Given the description of an element on the screen output the (x, y) to click on. 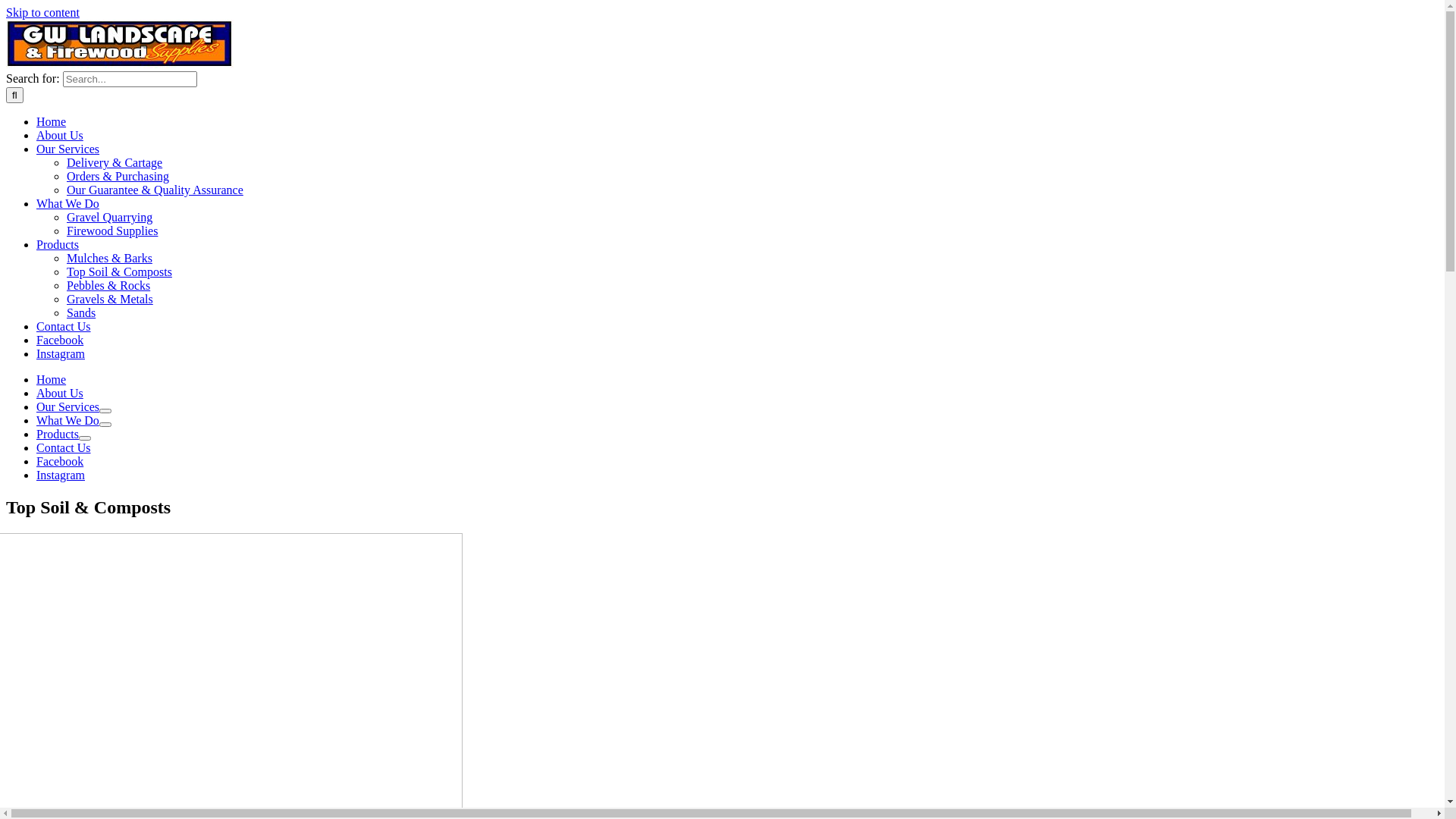
Gravels & Metals Element type: text (109, 298)
Mulches & Barks Element type: text (109, 257)
Firewood Supplies Element type: text (111, 230)
Contact Us Element type: text (63, 447)
Instagram Element type: text (60, 353)
About Us Element type: text (59, 134)
About Us Element type: text (59, 392)
Our Guarantee & Quality Assurance Element type: text (154, 189)
Our Services Element type: text (67, 406)
Pebbles & Rocks Element type: text (108, 285)
Facebook Element type: text (59, 339)
Products Element type: text (57, 433)
Sands Element type: text (80, 312)
Orders & Purchasing Element type: text (117, 175)
Delivery & Cartage Element type: text (114, 162)
Gravel Quarrying Element type: text (109, 216)
Our Services Element type: text (67, 148)
Home Element type: text (50, 379)
Contact Us Element type: text (63, 326)
Instagram Element type: text (60, 474)
Home Element type: text (50, 121)
Skip to content Element type: text (42, 12)
What We Do Element type: text (67, 203)
What We Do Element type: text (67, 420)
Products Element type: text (57, 244)
Top Soil & Composts Element type: text (119, 271)
Facebook Element type: text (59, 461)
